Given the description of an element on the screen output the (x, y) to click on. 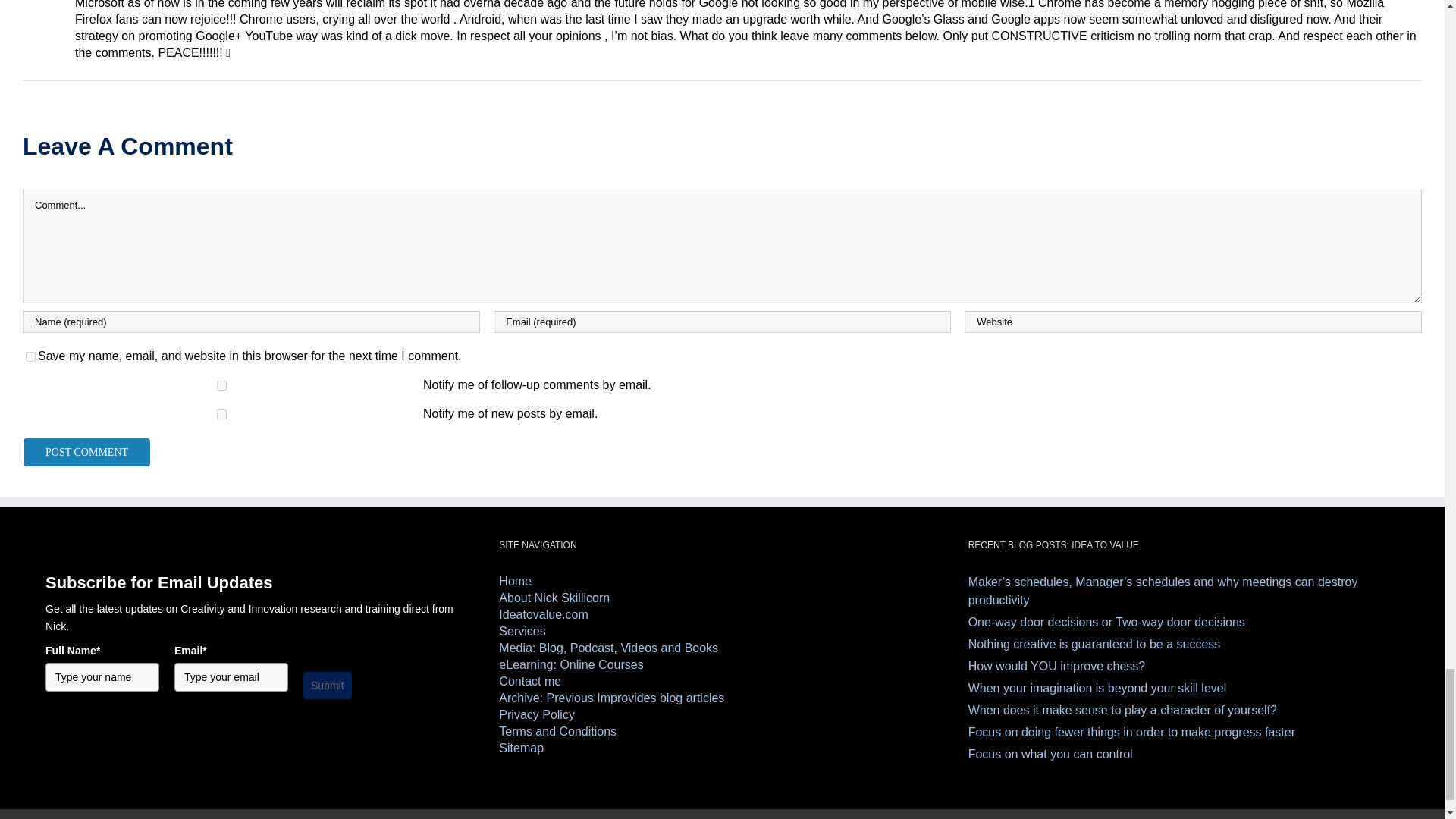
subscribe (221, 385)
Post Comment (87, 451)
Idea to value (721, 614)
Archive: Previous Improvides blog articles (721, 698)
Contact me (721, 681)
Media: Blog, Podcast, Videos and Books (721, 647)
Services (721, 631)
Home (721, 581)
About Nick Skillicorn (721, 597)
eLearning (721, 664)
